Given the description of an element on the screen output the (x, y) to click on. 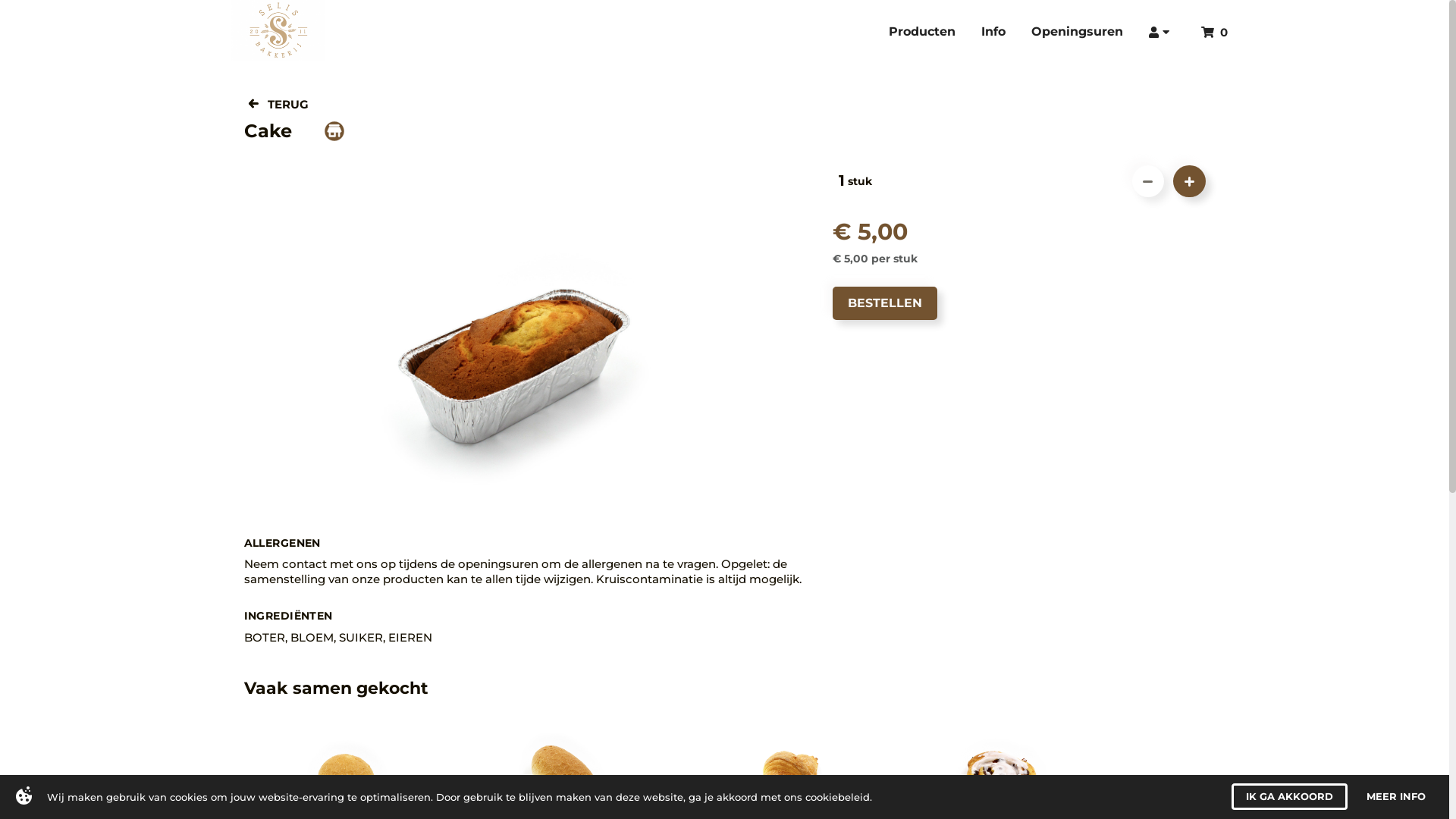
MORE INFO Element type: text (1402, 796)
I AGREE Element type: text (1316, 796)
